Given the description of an element on the screen output the (x, y) to click on. 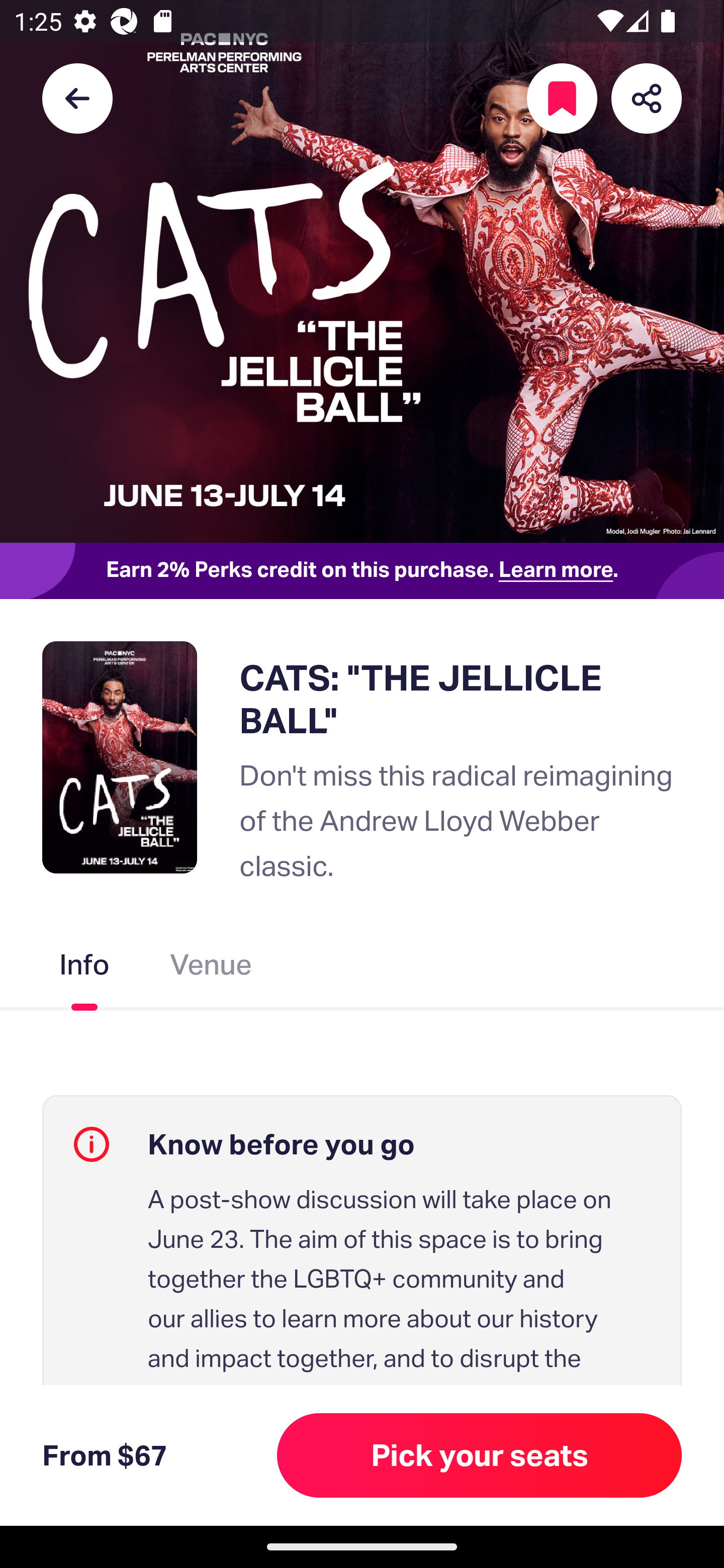
Earn 2% Perks credit on this purchase. Learn more. (362, 570)
Venue (210, 968)
Pick your seats (479, 1454)
